Given the description of an element on the screen output the (x, y) to click on. 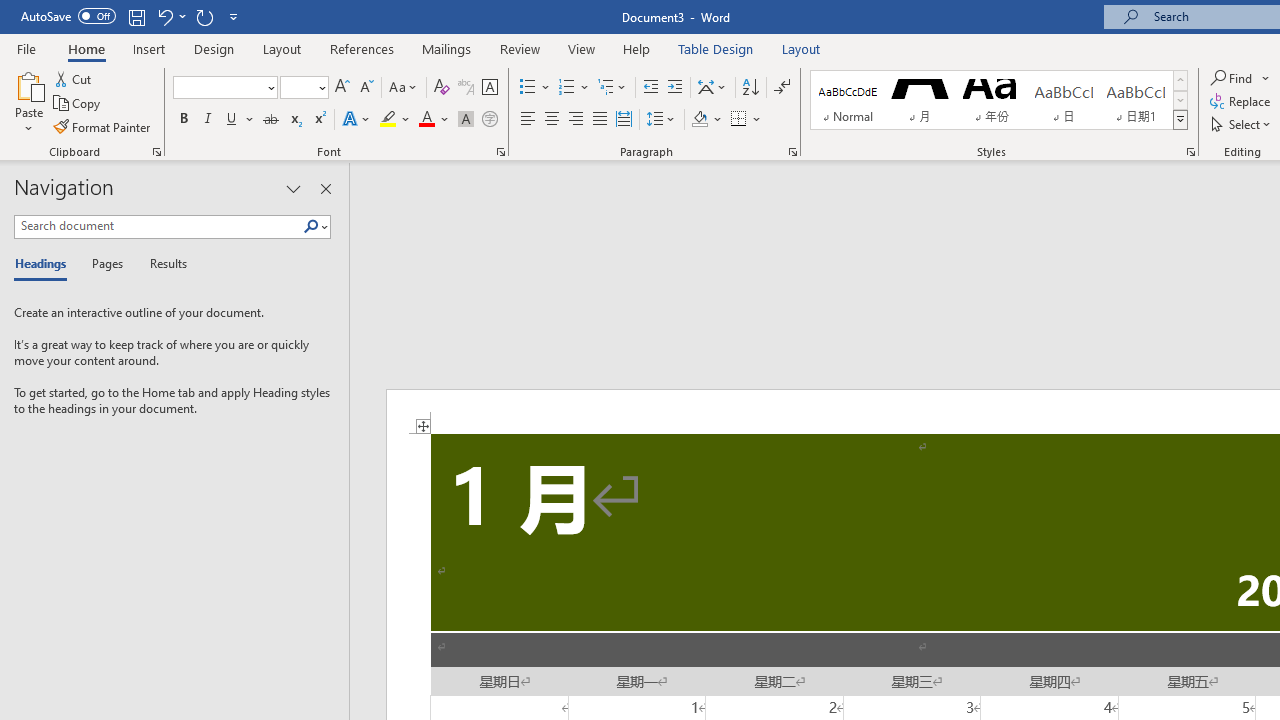
Copy (78, 103)
Task Pane Options (293, 188)
Subscript (294, 119)
Font (218, 87)
AutomationID: QuickStylesGallery (999, 99)
Borders (739, 119)
Font Size (304, 87)
Font Size (297, 87)
Bullets (527, 87)
